Given the description of an element on the screen output the (x, y) to click on. 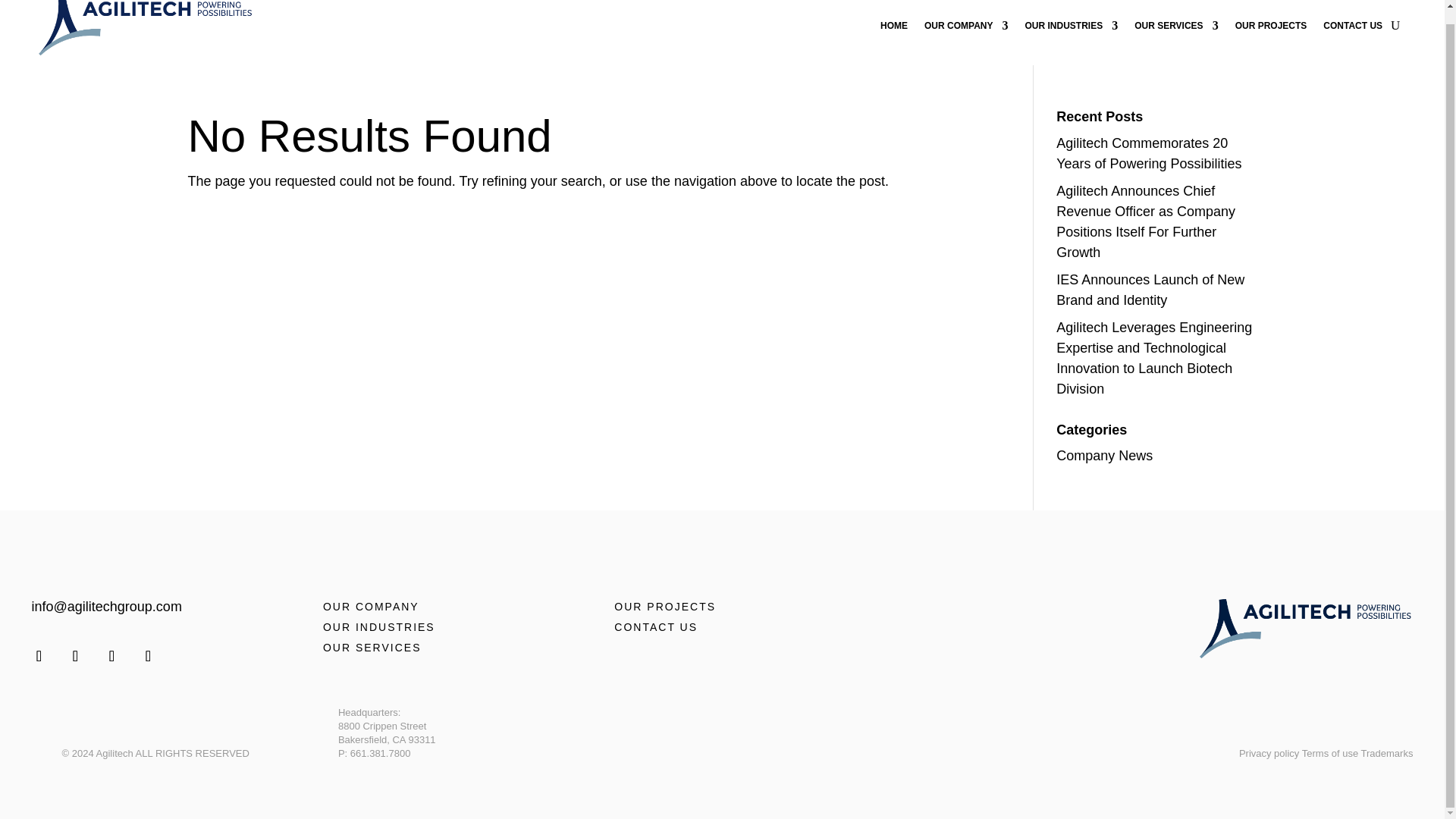
Follow on Youtube (148, 655)
CONTACT US (1352, 28)
Follow on X (75, 655)
OUR SERVICES (1175, 28)
Follow on Facebook (39, 655)
Follow on LinkedIn (112, 655)
OUR INDUSTRIES (1071, 28)
OUR PROJECTS (1270, 28)
OUR COMPANY (965, 28)
